Given the description of an element on the screen output the (x, y) to click on. 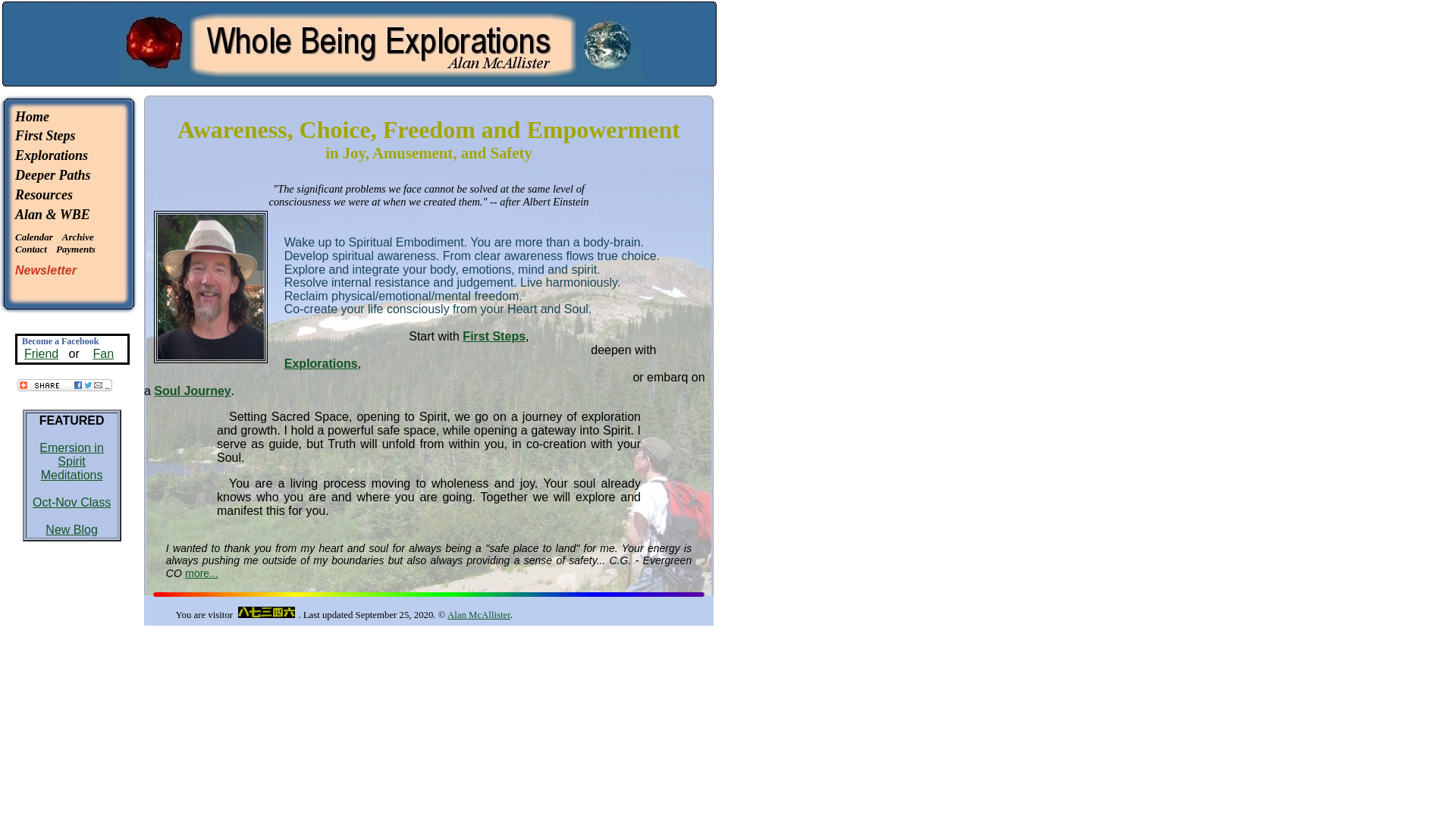
Payments (76, 247)
Sessions  Classes (50, 155)
First Steps (494, 336)
Meditations  Seminars  Media (44, 135)
Home (31, 116)
About Alan  WBE Mission (52, 214)
New Blog (71, 529)
Oct-Nov Class (71, 502)
more... (201, 573)
First Steps (44, 135)
Resources (43, 194)
Explorations (320, 363)
Contact (30, 247)
Deeper Paths (52, 174)
Emersion in Spirit Meditations (71, 461)
